Given the description of an element on the screen output the (x, y) to click on. 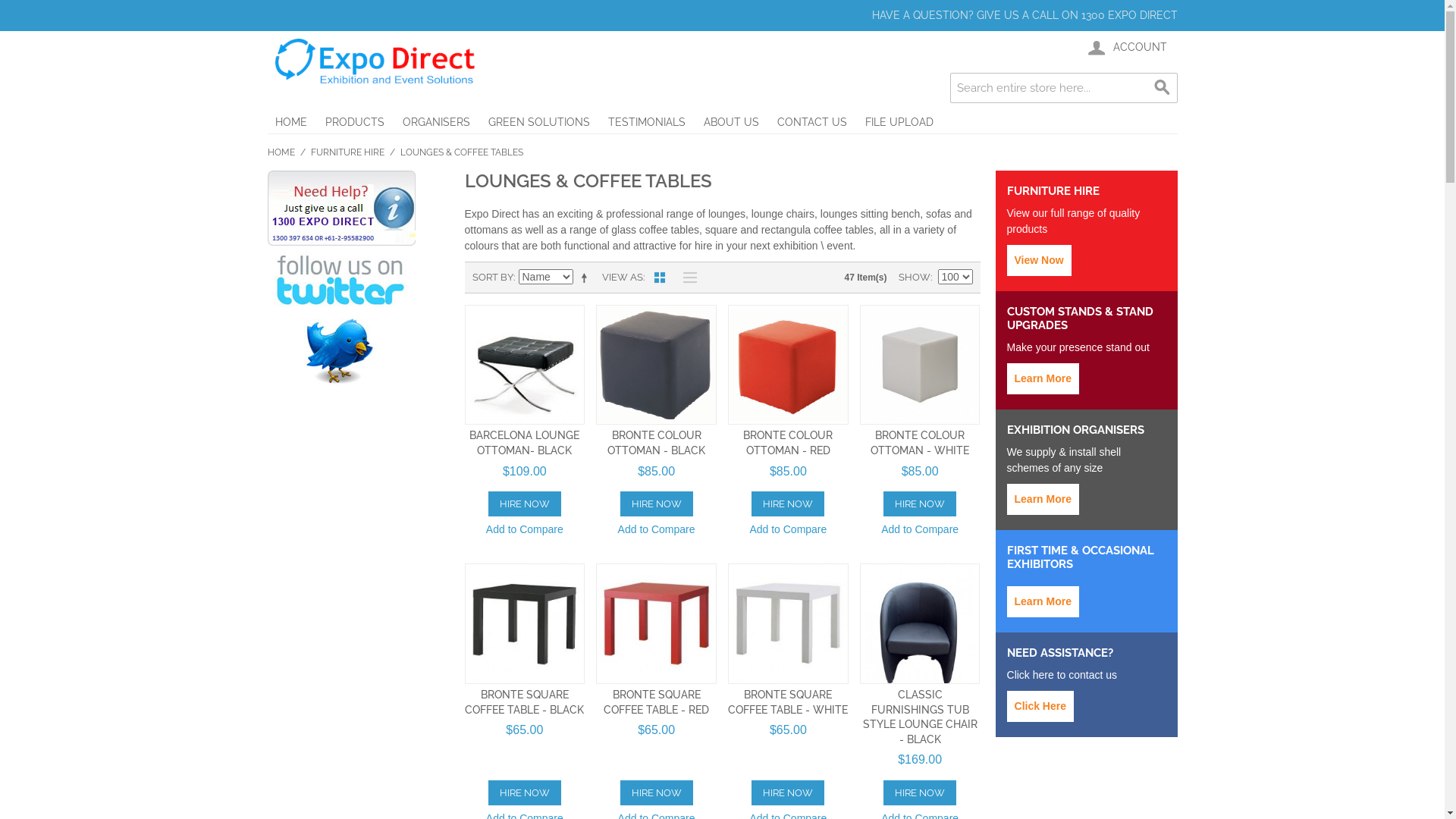
Bronte Square Coffee Table - Black Element type: hover (524, 623)
HIRE NOW Element type: text (524, 503)
HIRE NOW Element type: text (524, 792)
Bronte Colour Ottoman - Red Element type: hover (788, 364)
CLASSIC FURNISHINGS TUB STYLE LOUNGE CHAIR - BLACK Element type: text (919, 716)
View Now Element type: text (1039, 260)
PRODUCTS Element type: text (353, 121)
HIRE NOW Element type: text (656, 792)
Barcelona Lounge Ottoman- Black Element type: hover (524, 364)
Learn More Element type: text (1043, 601)
Add to Compare Element type: text (656, 530)
Learn More Element type: text (1043, 378)
List Element type: text (685, 277)
ORGANISERS Element type: text (435, 121)
HIRE NOW Element type: text (919, 503)
BRONTE SQUARE COFFEE TABLE - WHITE Element type: text (787, 701)
Add to Compare Element type: text (787, 530)
HIRE NOW Element type: text (919, 792)
TESTIMONIALS Element type: text (646, 121)
Learn More Element type: text (1043, 498)
HOME Element type: text (289, 121)
Bronte Colour Ottoman - Black Element type: hover (656, 364)
FILE UPLOAD Element type: text (898, 121)
CONTACT US Element type: text (810, 121)
BRONTE COLOUR OTTOMAN - BLACK Element type: text (656, 442)
Search Element type: hover (1161, 87)
BARCELONA LOUNGE OTTOMAN- BLACK Element type: text (524, 442)
BRONTE COLOUR OTTOMAN - RED Element type: text (787, 442)
Classic Furnishings Tub Style Lounge Chair - Black Element type: hover (919, 623)
BRONTE COLOUR OTTOMAN - WHITE Element type: text (919, 442)
Bronte Square Coffee Table - Red Element type: hover (656, 623)
HIRE NOW Element type: text (787, 503)
Set Descending Direction Element type: text (585, 277)
BRONTE SQUARE COFFEE TABLE - BLACK Element type: text (523, 701)
BRONTE SQUARE COFFEE TABLE - RED Element type: text (656, 701)
Click Here Element type: text (1040, 705)
Bronte Colour Ottoman - White Element type: hover (919, 364)
ABOUT US Element type: text (731, 121)
HIRE NOW Element type: text (656, 503)
ACCOUNT Element type: text (1124, 47)
Add to Compare Element type: text (524, 530)
HIRE NOW Element type: text (787, 792)
Bronte Square Coffee Table - White Element type: hover (788, 623)
FURNITURE HIRE Element type: text (347, 152)
GREEN SOLUTIONS Element type: text (538, 121)
HOME Element type: text (280, 152)
Add to Compare Element type: text (919, 530)
